Given the description of an element on the screen output the (x, y) to click on. 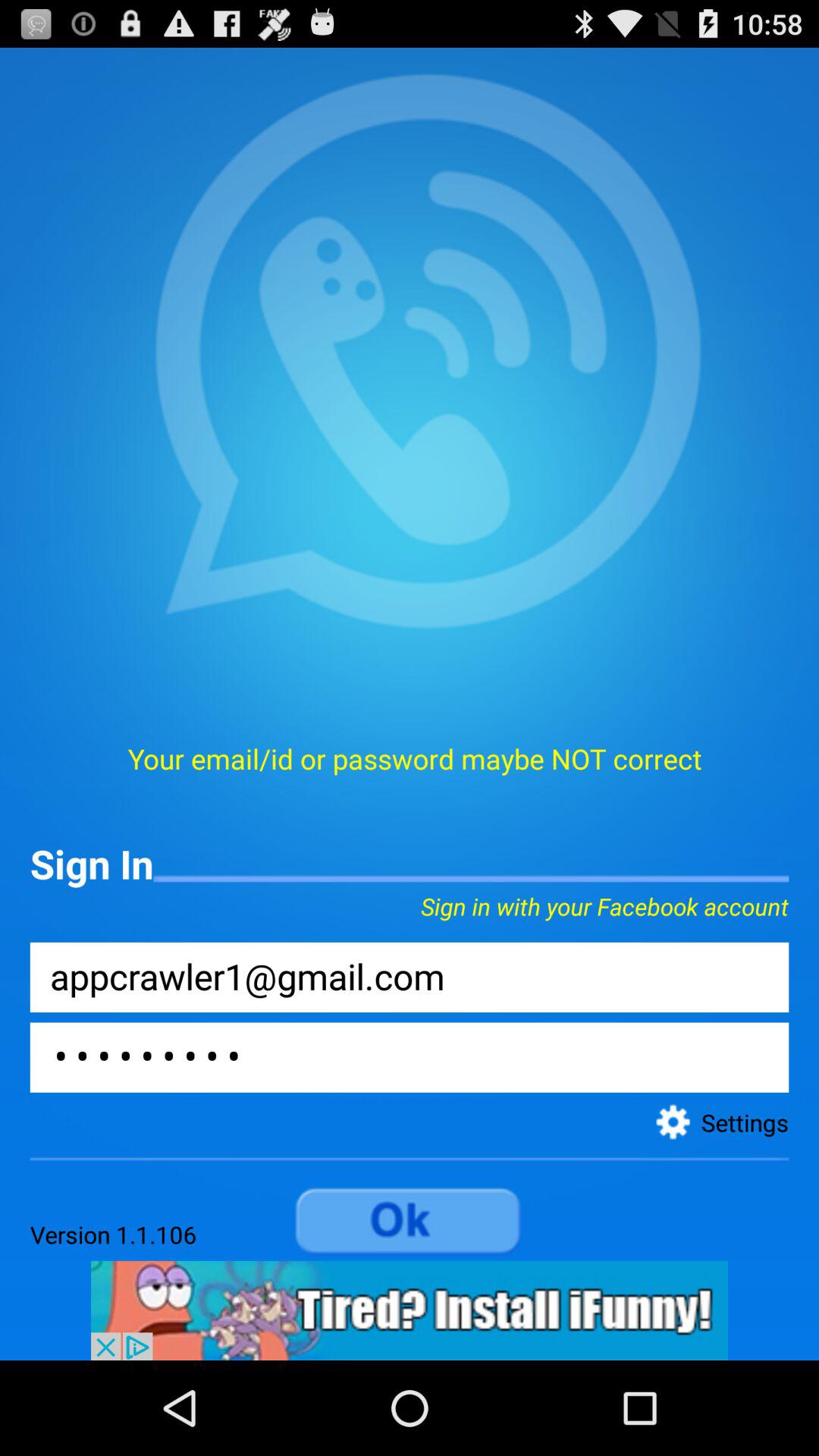
click advertisement (409, 1310)
